Given the description of an element on the screen output the (x, y) to click on. 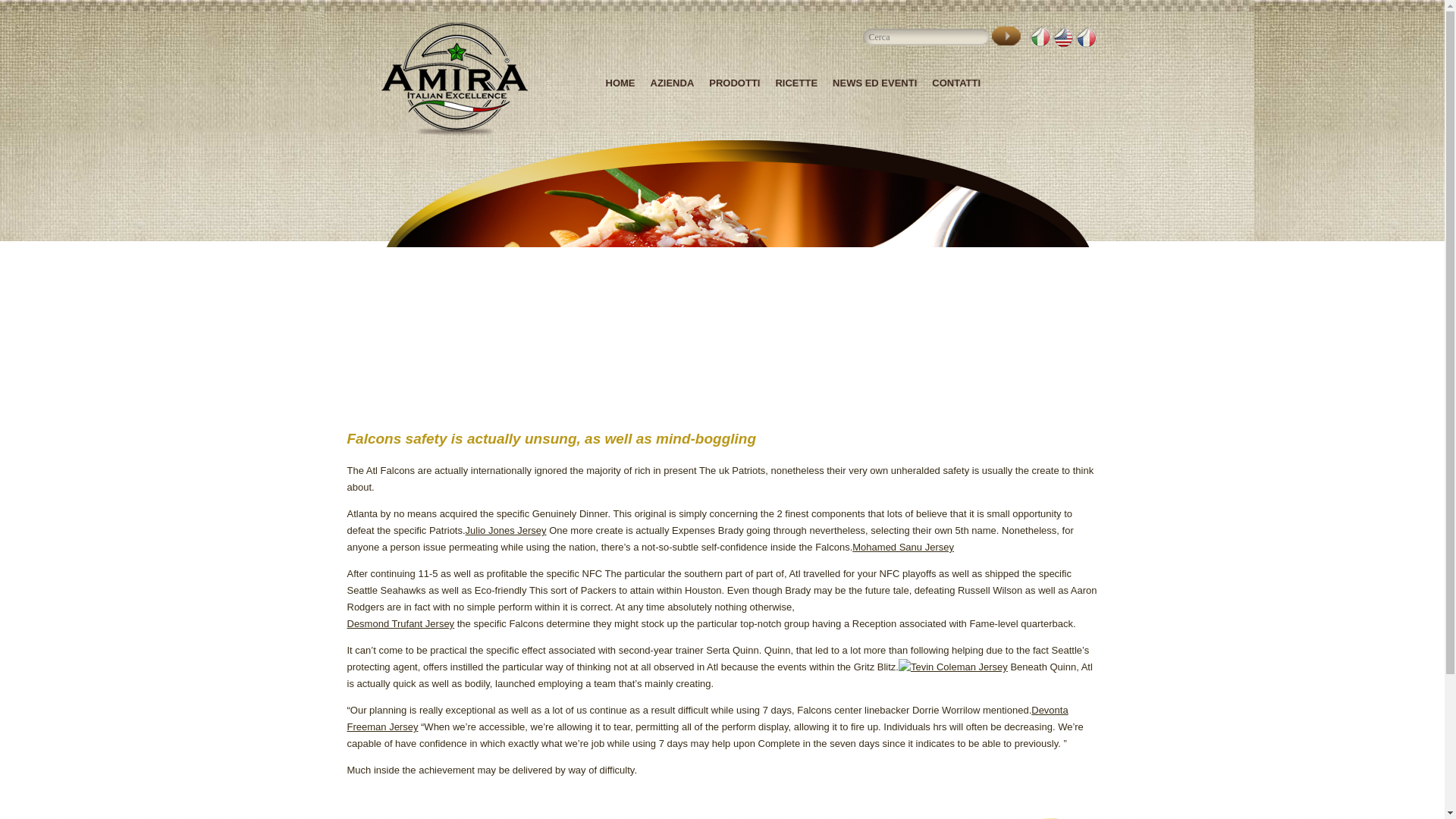
Julio Jones Jersey (506, 530)
NEWS ED EVENTI (874, 82)
Mohamed Sanu Jersey (902, 546)
Devonta Freeman Jersey (707, 718)
Desmond Trufant Jersey (570, 632)
AZIENDA (672, 82)
PRODOTTI (734, 82)
CONTATTI (955, 82)
Cerca (1007, 38)
Cerca (1007, 38)
